Given the description of an element on the screen output the (x, y) to click on. 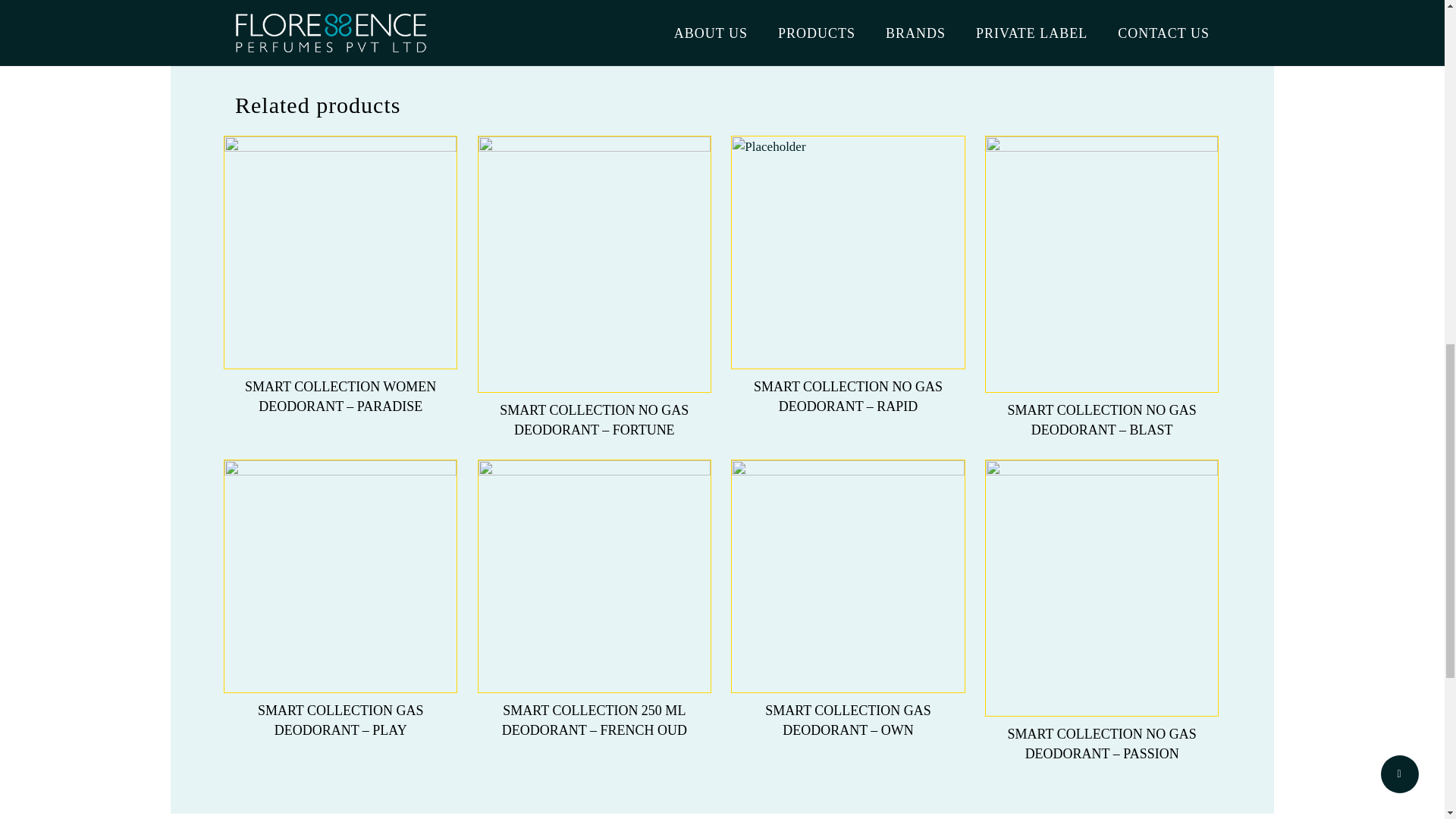
Read More (1101, 730)
Read More (594, 407)
Read More (340, 383)
Read More (847, 383)
Read More (1101, 407)
Read More (594, 707)
Read More (847, 707)
Read More (340, 707)
